Given the description of an element on the screen output the (x, y) to click on. 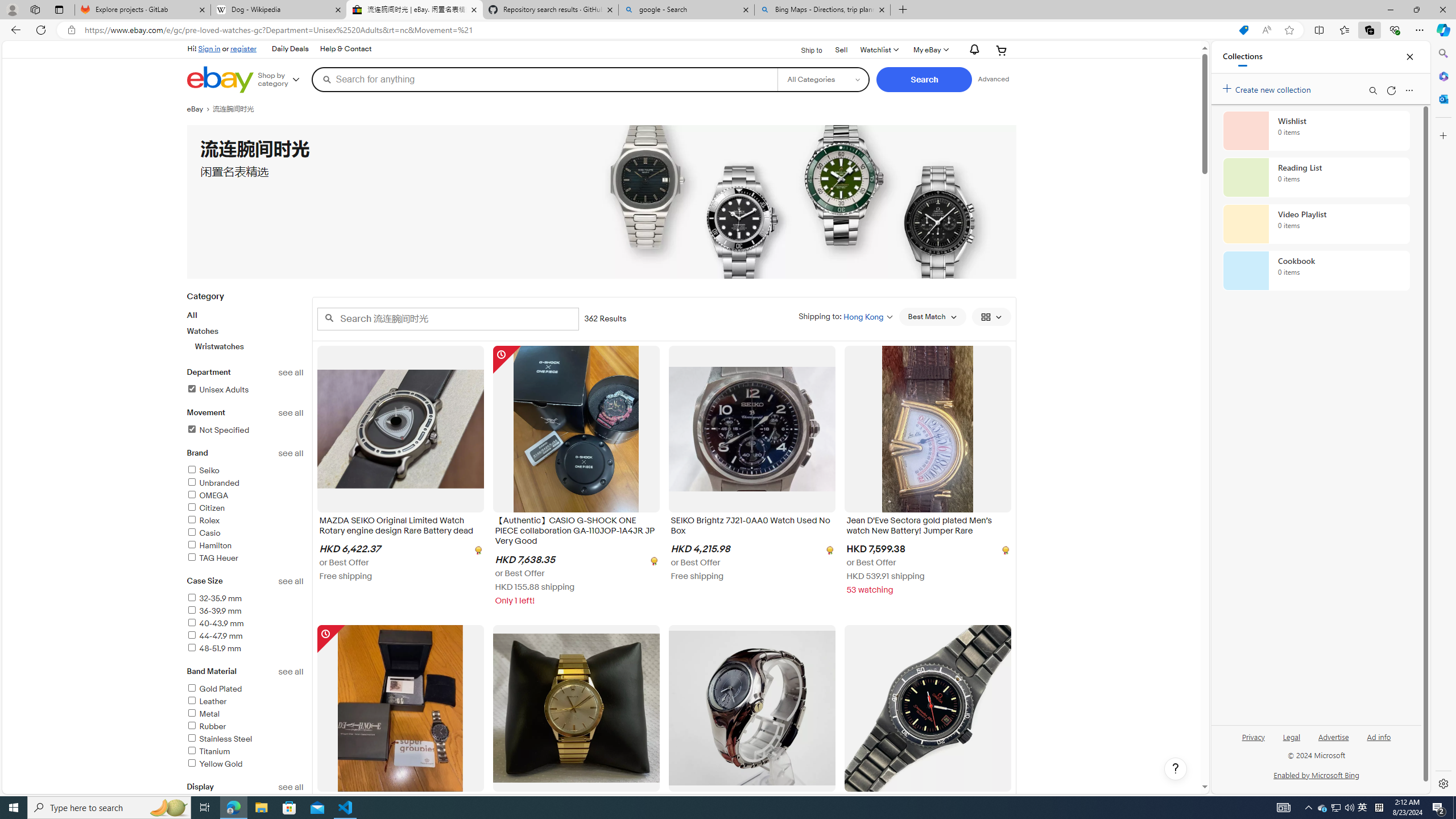
See all display refinements (291, 787)
44-47.9 mm (245, 636)
Wishlist collection, 0 items (1316, 130)
TAG Heuer (212, 558)
eBay (199, 108)
Ship to (804, 49)
Rubber (205, 726)
See all band material refinements (291, 671)
Casio (245, 533)
Unbranded (213, 483)
Help & Contact (345, 49)
Rolex (202, 520)
